Given the description of an element on the screen output the (x, y) to click on. 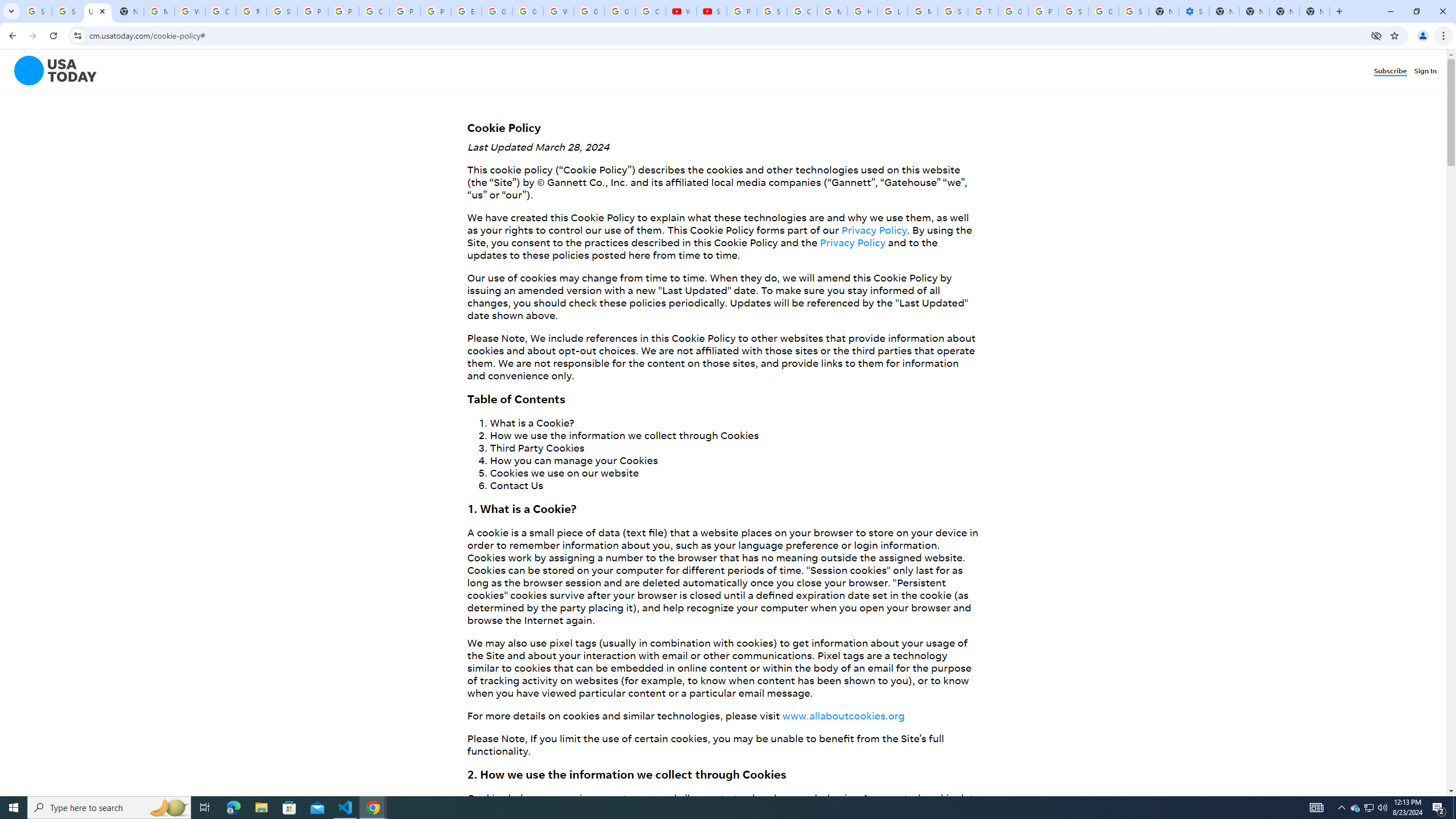
Settings - Performance (1193, 11)
Cookies we use on our website (564, 472)
YouTube (681, 11)
How we use the information we collect through Cookies (623, 435)
Who is my administrator? - Google Account Help (189, 11)
Welcome to My Activity (558, 11)
Sign in - Google Accounts (66, 11)
Google Cybersecurity Innovations - Google Safety Center (1103, 11)
